Given the description of an element on the screen output the (x, y) to click on. 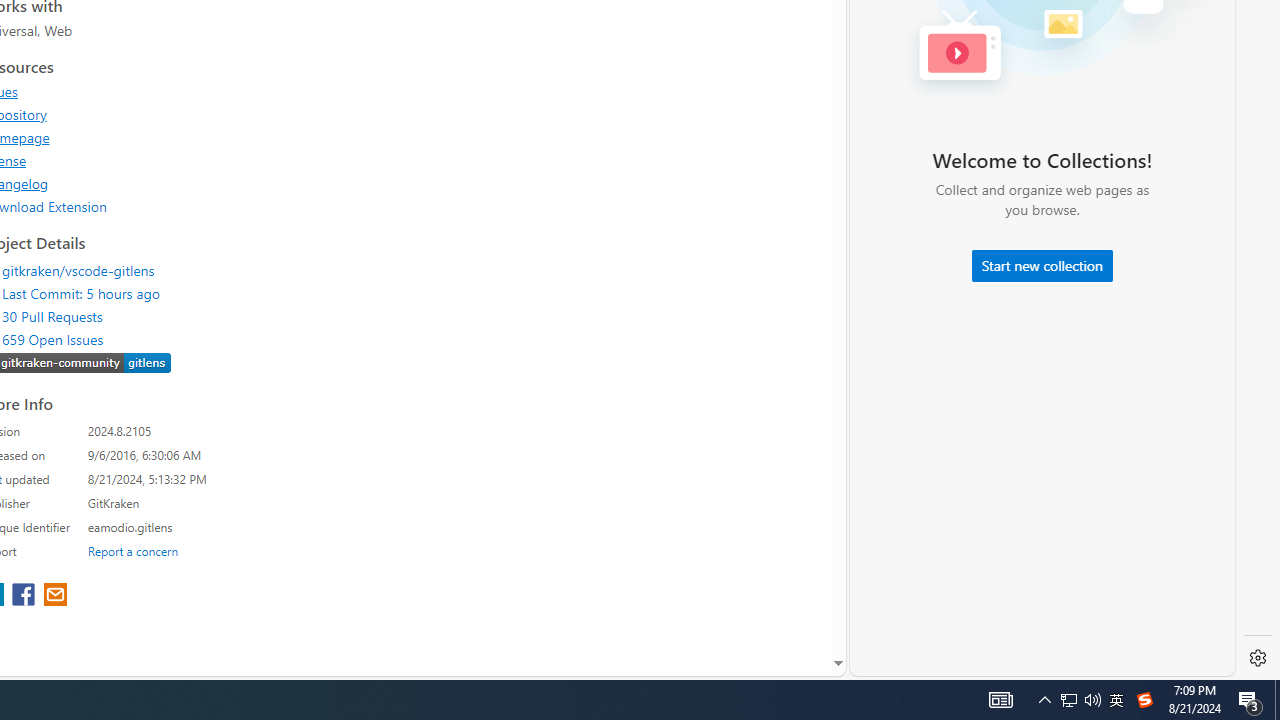
Start new collection (1042, 265)
Report a concern (133, 550)
share extension on facebook (26, 596)
share extension on email (54, 596)
